Given the description of an element on the screen output the (x, y) to click on. 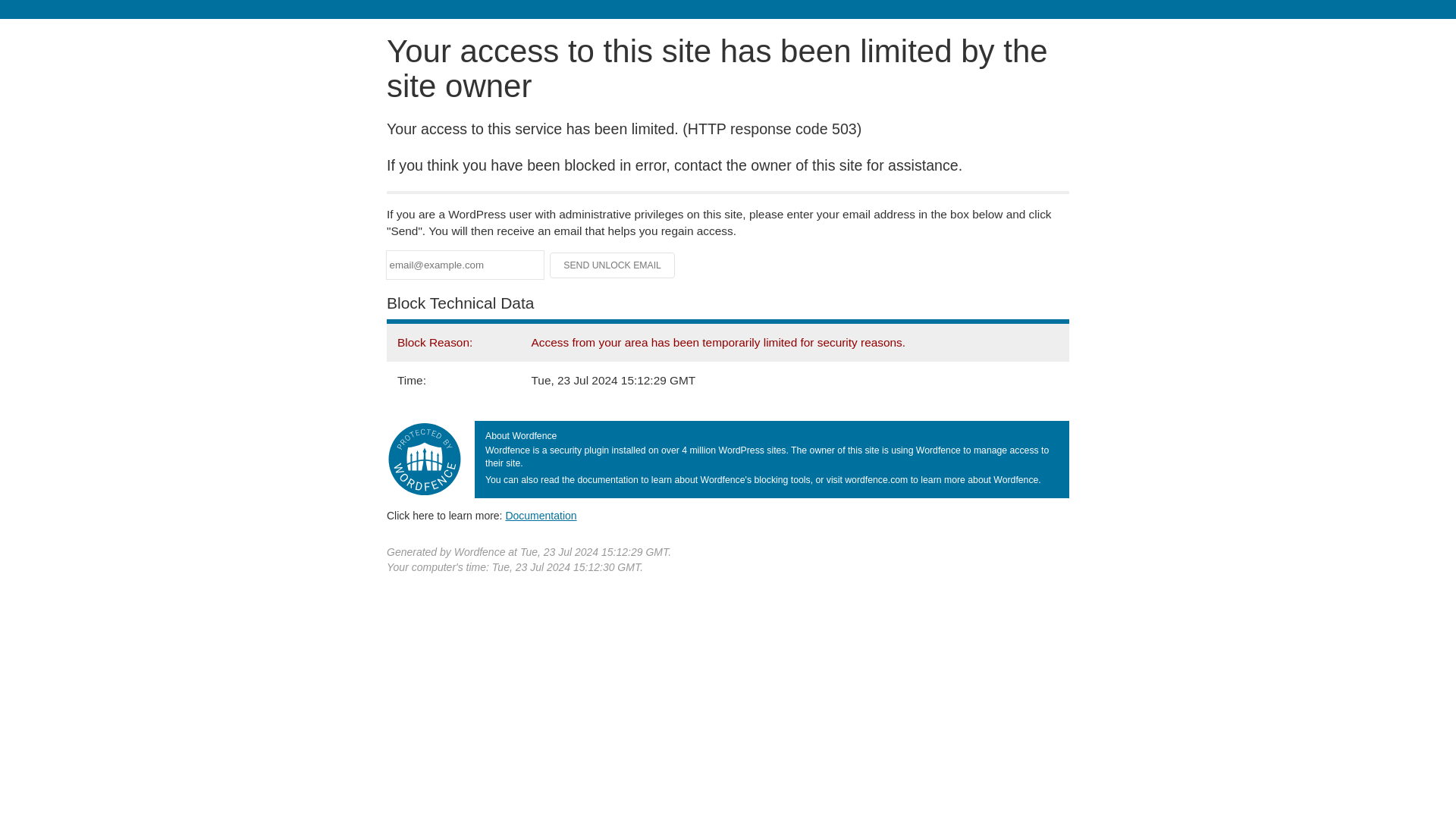
Send Unlock Email (612, 265)
Send Unlock Email (612, 265)
Documentation (540, 515)
